Given the description of an element on the screen output the (x, y) to click on. 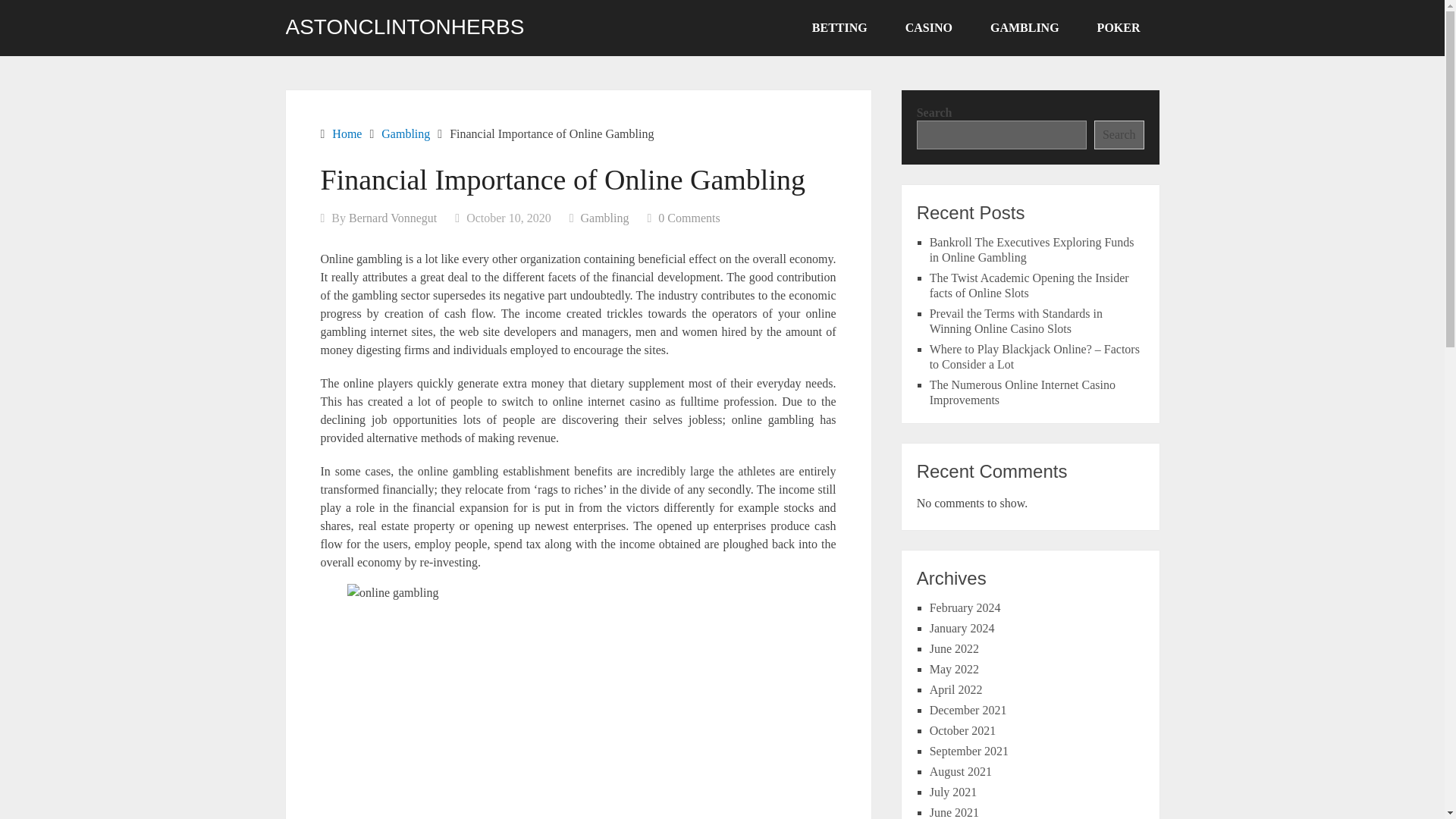
Gambling (405, 133)
September 2021 (969, 750)
0 Comments (688, 217)
January 2024 (962, 627)
POKER (1118, 28)
June 2022 (954, 648)
ASTONCLINTONHERBS (404, 26)
August 2021 (960, 771)
Home (346, 133)
Search (1119, 134)
February 2024 (965, 607)
December 2021 (968, 709)
June 2021 (954, 812)
April 2022 (956, 689)
